Given the description of an element on the screen output the (x, y) to click on. 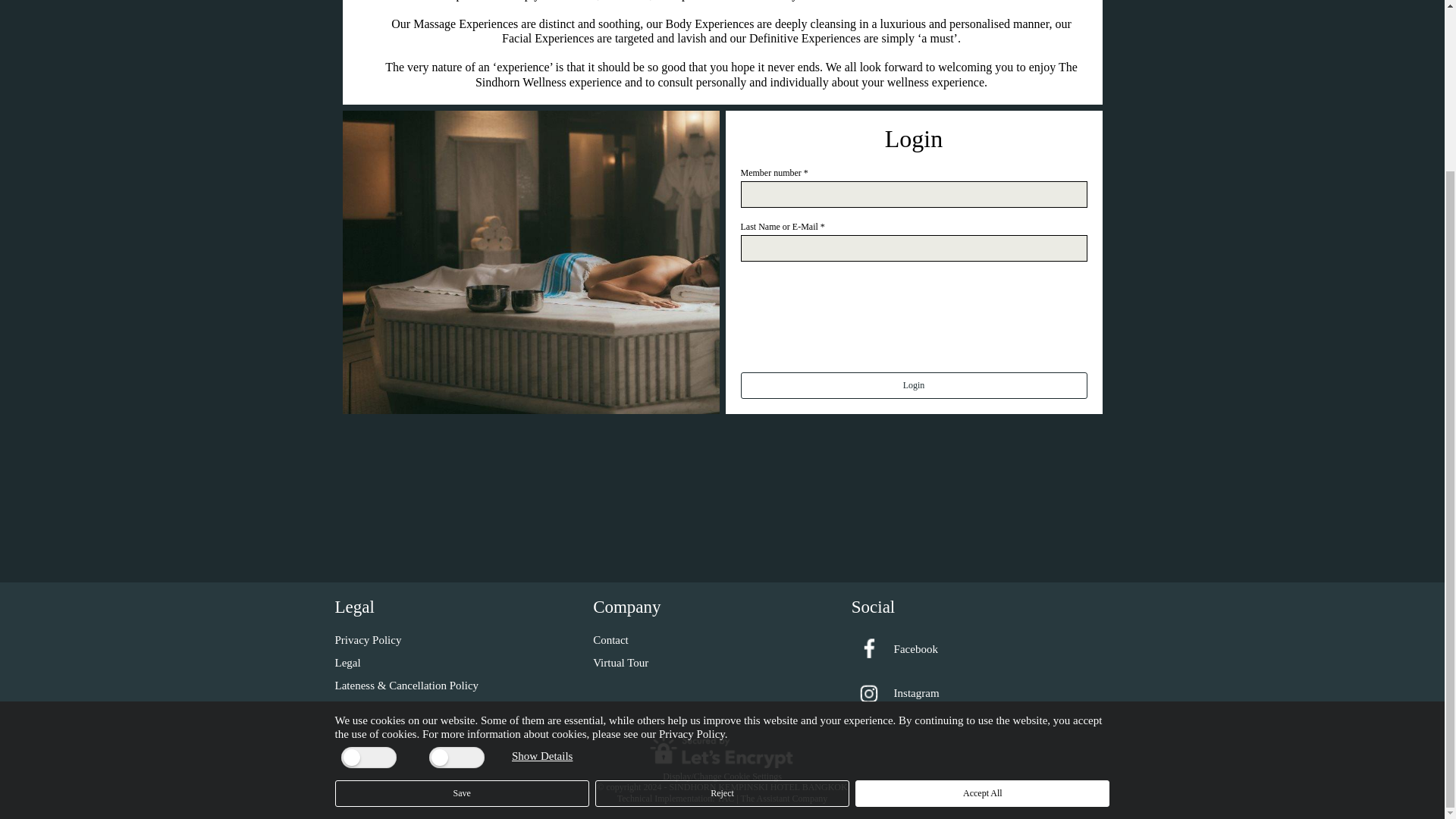
Show Details (542, 549)
Contact (610, 639)
Legal (347, 662)
Privacy Policy (367, 639)
